Given the description of an element on the screen output the (x, y) to click on. 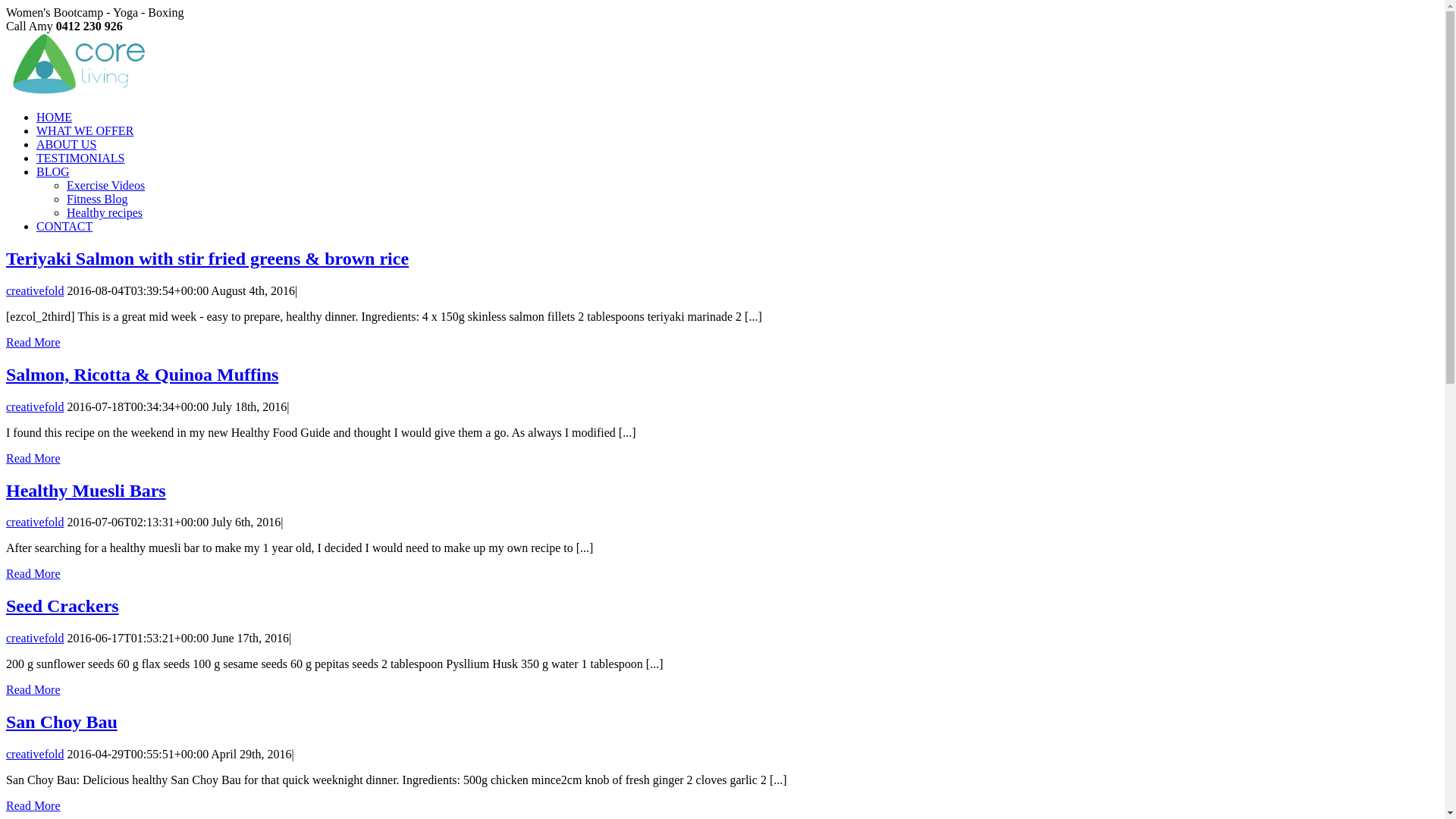
Salmon, Ricotta & Quinoa Muffins Element type: text (142, 374)
TESTIMONIALS Element type: text (80, 157)
San Choy Bau Element type: text (61, 721)
creativefold Element type: text (34, 753)
Fitness Blog Element type: text (96, 198)
ABOUT US Element type: text (66, 144)
Teriyaki Salmon with stir fried greens & brown rice Element type: text (207, 258)
creativefold Element type: text (34, 637)
Read More Element type: text (33, 689)
CONTACT Element type: text (64, 225)
Read More Element type: text (33, 573)
HOME Element type: text (54, 116)
creativefold Element type: text (34, 521)
Healthy Muesli Bars Element type: text (86, 490)
Exercise Videos Element type: text (105, 184)
Read More Element type: text (33, 805)
BLOG Element type: text (52, 171)
Read More Element type: text (33, 457)
creativefold Element type: text (34, 406)
WHAT WE OFFER Element type: text (84, 130)
Seed Crackers Element type: text (62, 605)
Read More Element type: text (33, 341)
Healthy recipes Element type: text (104, 212)
creativefold Element type: text (34, 290)
